Given the description of an element on the screen output the (x, y) to click on. 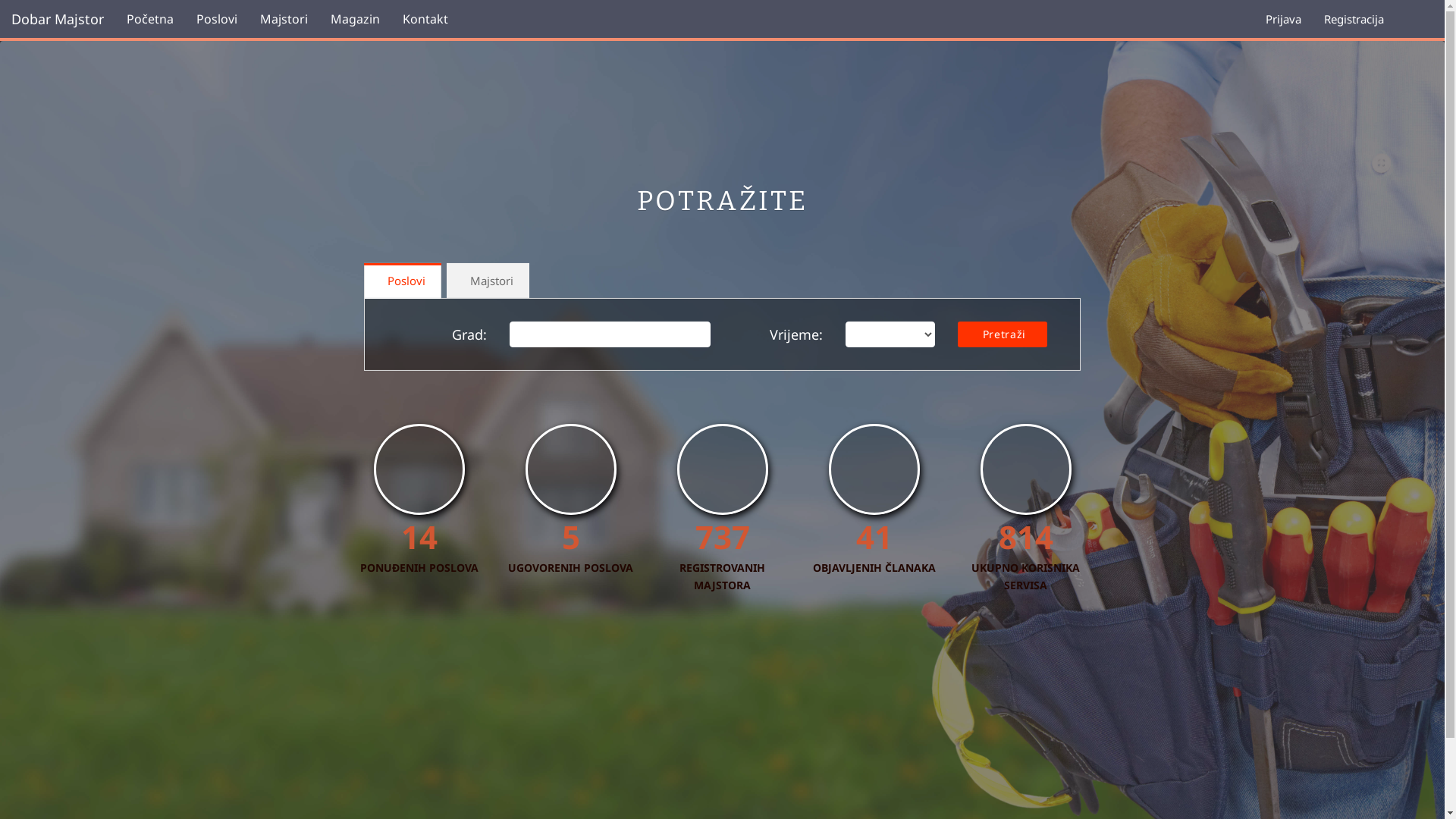
 Majstori Element type: text (487, 280)
Kontakt Element type: text (425, 18)
Magazin Element type: text (355, 18)
Dobar Majstor Element type: text (57, 18)
Prijava Element type: text (1283, 18)
 Poslovi Element type: text (402, 280)
Majstori Element type: text (283, 18)
Registracija Element type: text (1353, 18)
Poslovi Element type: text (216, 18)
